Given the description of an element on the screen output the (x, y) to click on. 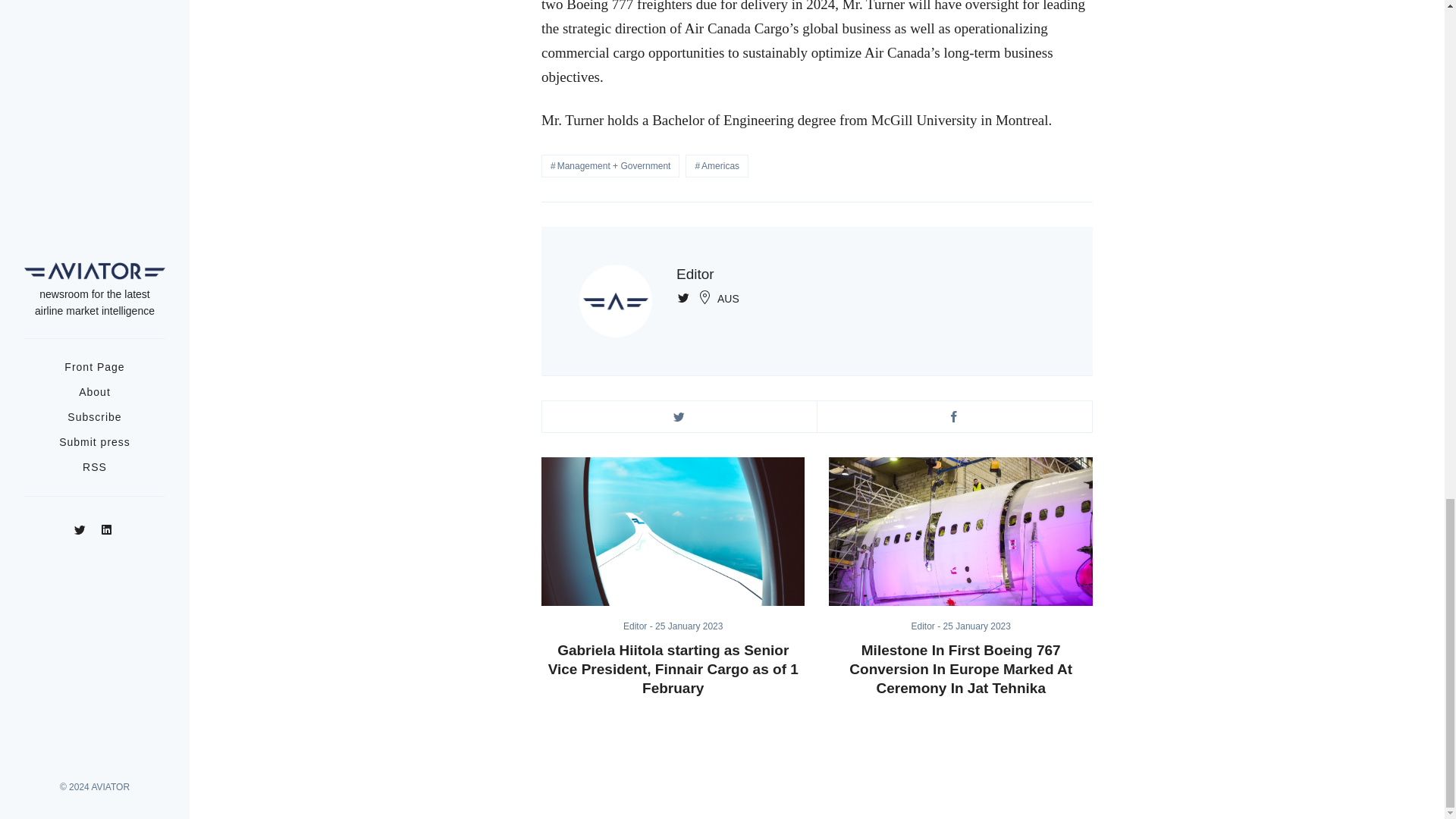
Editor - (927, 625)
Americas (716, 165)
Editor (695, 273)
Editor (927, 625)
Share on Facebook (954, 416)
Editor - (639, 625)
Share on Twitter (678, 416)
Editor (639, 625)
